Given the description of an element on the screen output the (x, y) to click on. 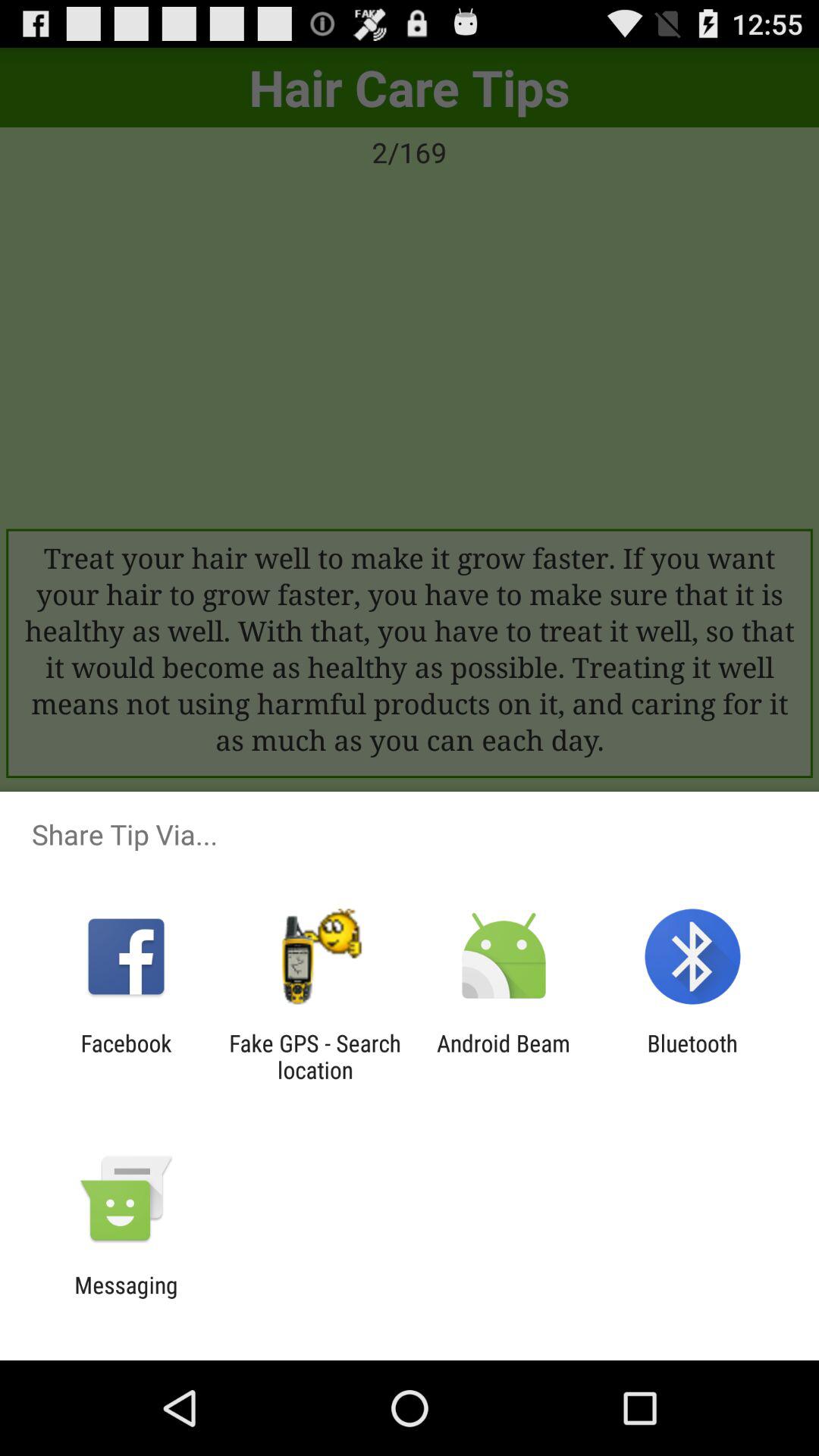
turn off app to the left of bluetooth item (503, 1056)
